Given the description of an element on the screen output the (x, y) to click on. 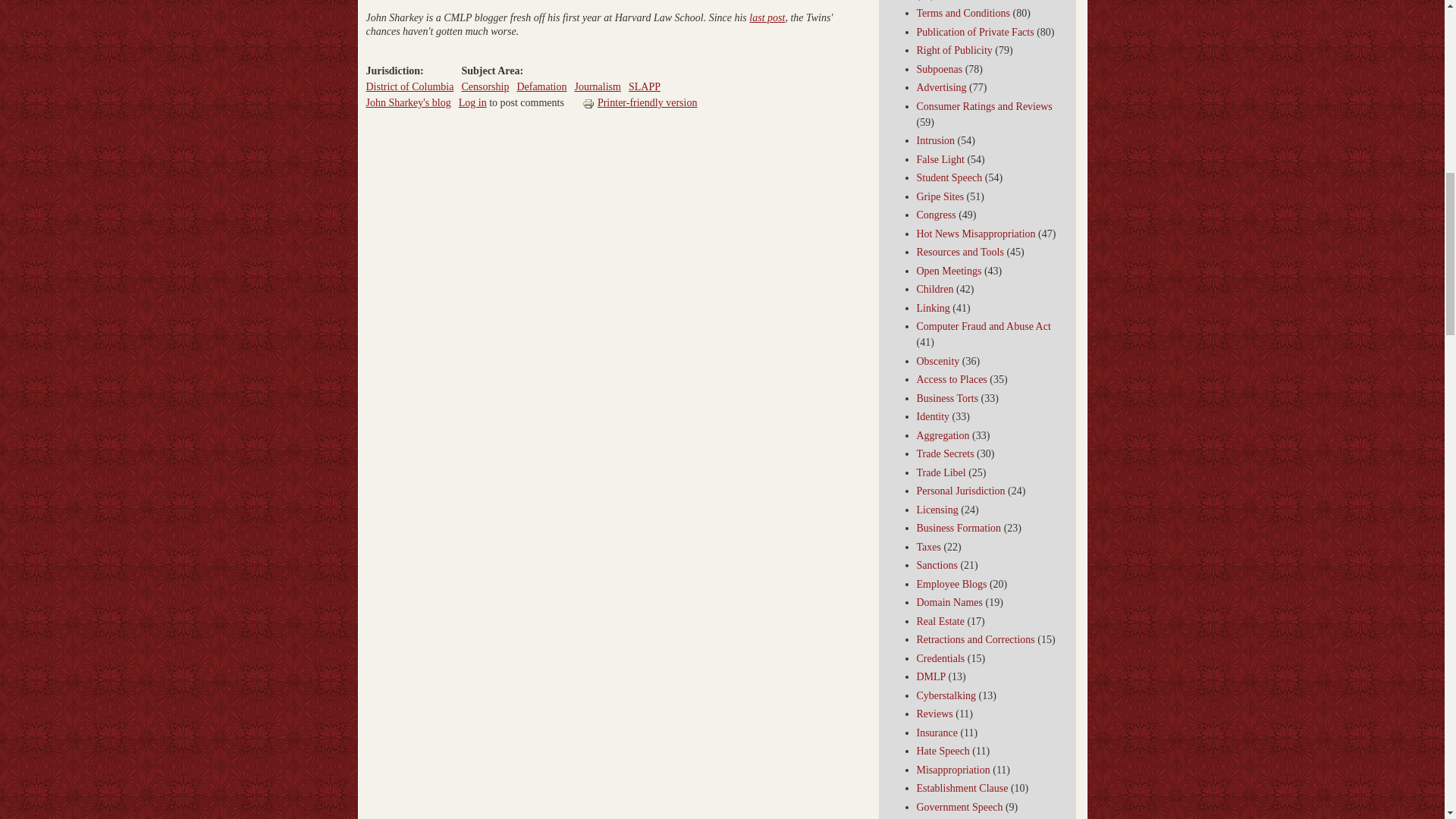
Printer-friendly version (639, 102)
last post (766, 17)
Display a printer-friendly version of this page. (639, 102)
John Sharkey's blog (407, 102)
District of Columbia (408, 86)
Printer-friendly version (589, 103)
Journalism (596, 86)
Censorship (484, 86)
Defamation (541, 86)
Read John Sharkey's latest blog entries. (407, 102)
